Given the description of an element on the screen output the (x, y) to click on. 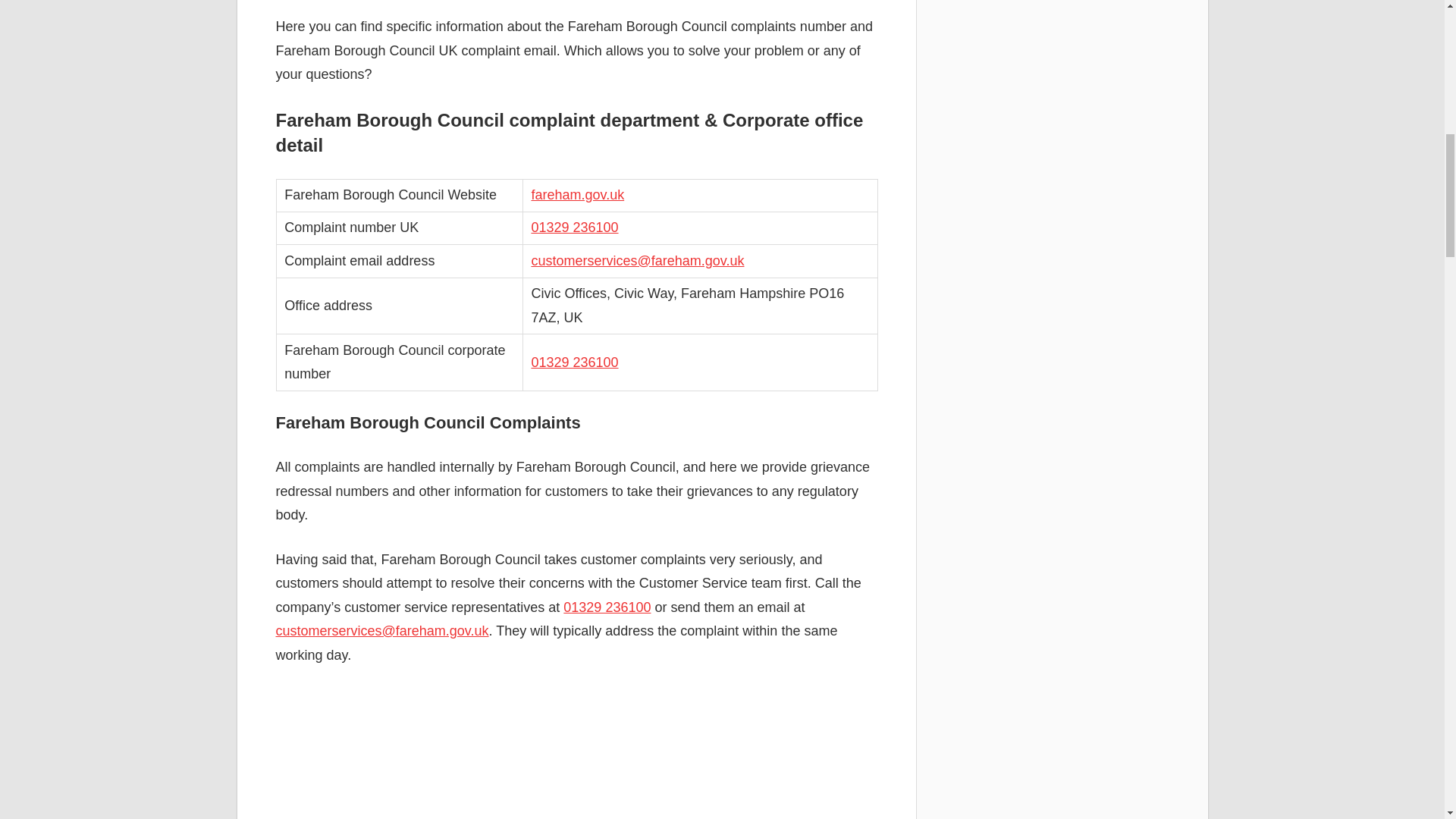
01329 236100 (574, 227)
01329 236100 (574, 362)
Advertisement (576, 753)
01329 236100 (606, 606)
fareham.gov.uk (577, 194)
